Given the description of an element on the screen output the (x, y) to click on. 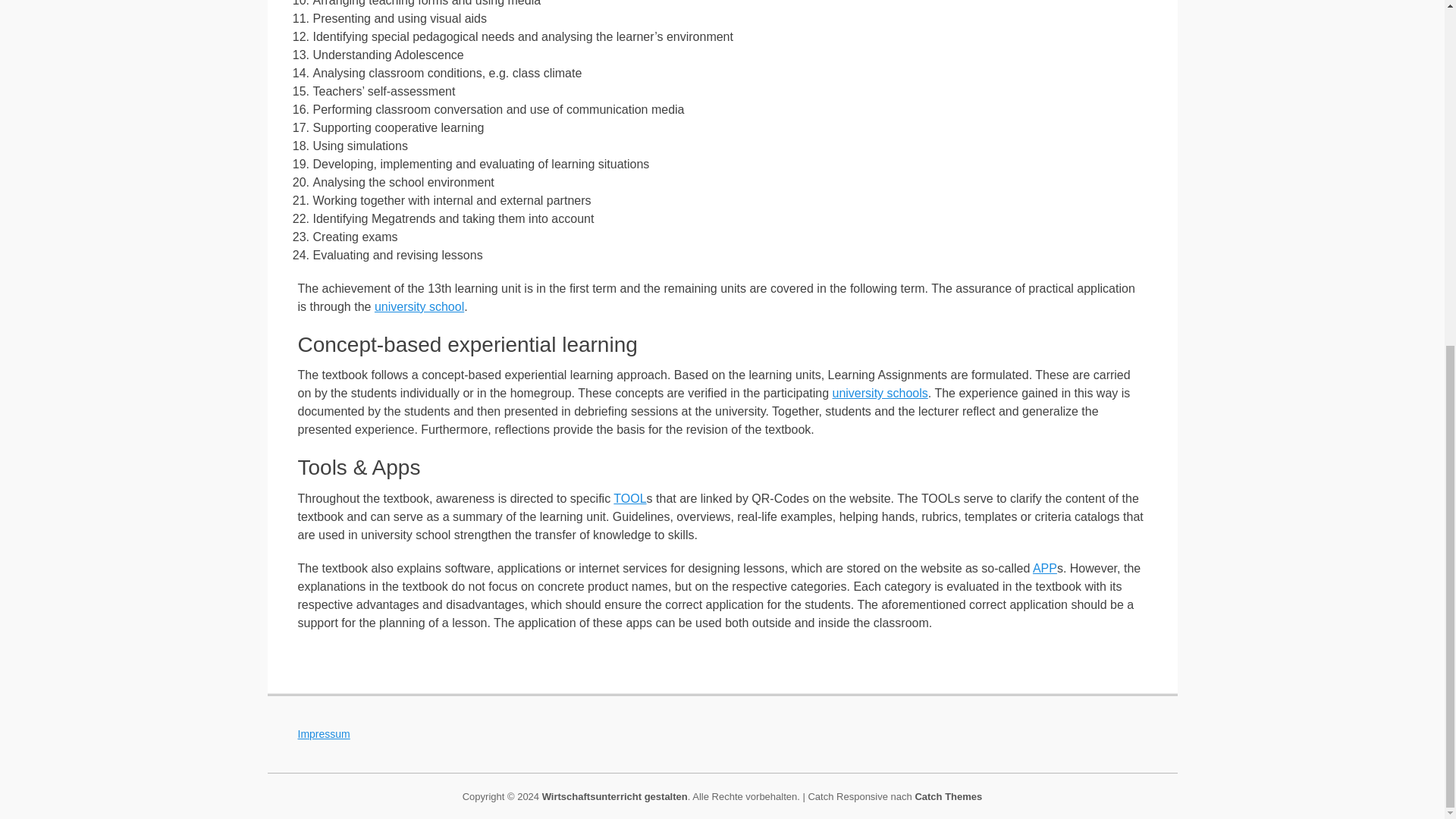
university schools (880, 392)
TOOL (629, 498)
Wirtschaftsunterricht gestalten (614, 796)
APP (1044, 567)
university school (419, 306)
Catch Themes (947, 796)
Impressum (323, 734)
